Given the description of an element on the screen output the (x, y) to click on. 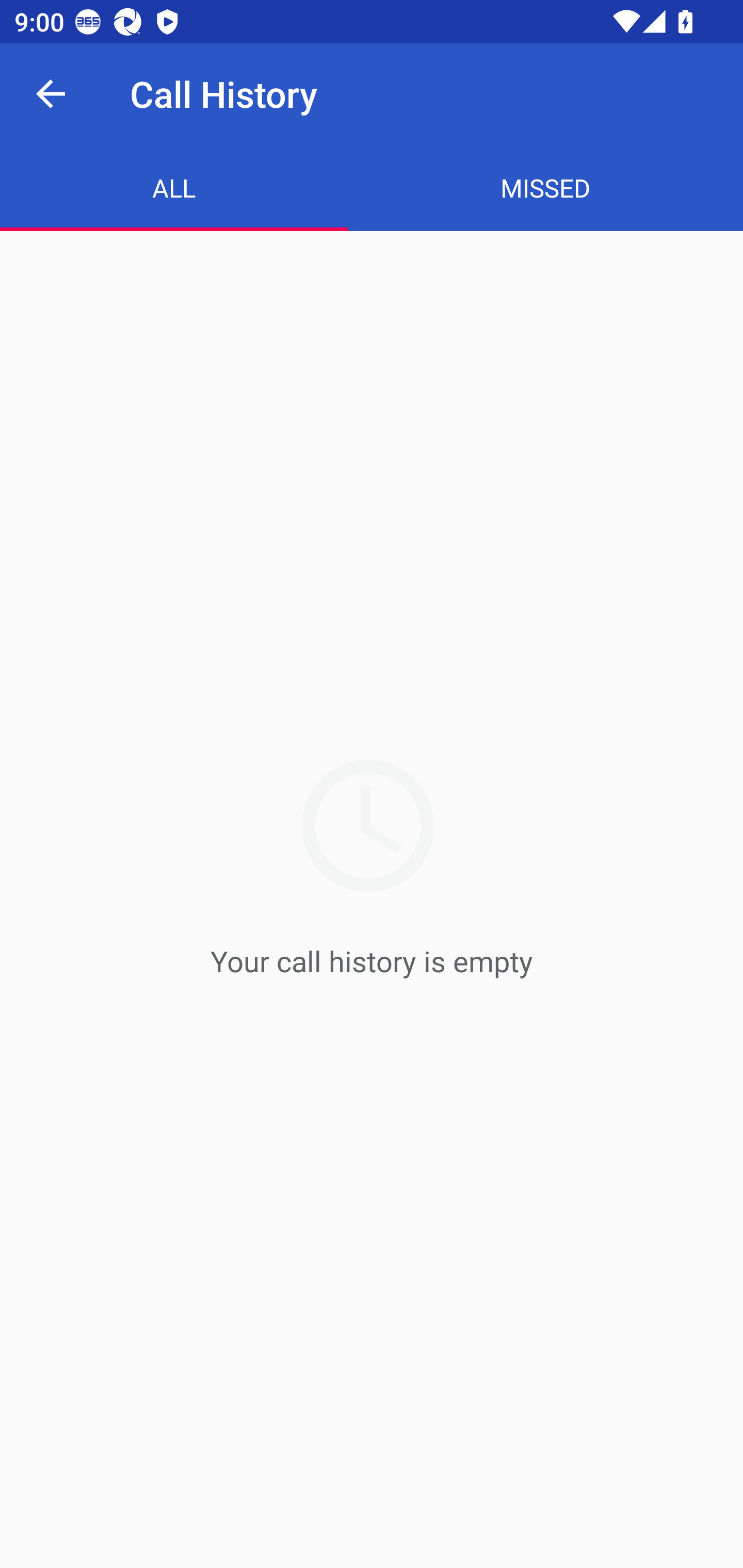
Navigate up (50, 93)
ALL (174, 187)
MISSED (545, 187)
